Given the description of an element on the screen output the (x, y) to click on. 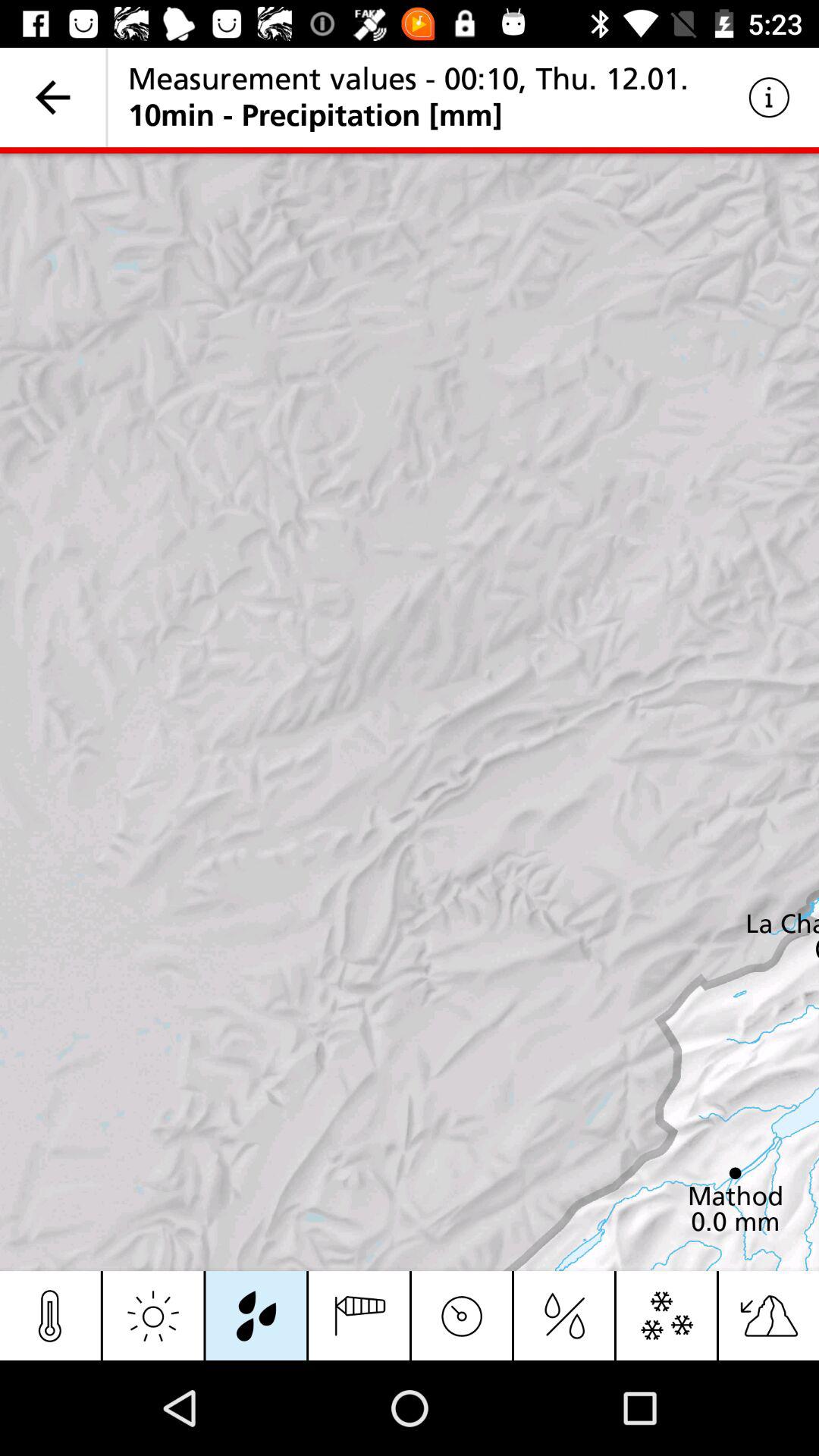
turn off icon to the left of measurement values 00 (52, 97)
